Given the description of an element on the screen output the (x, y) to click on. 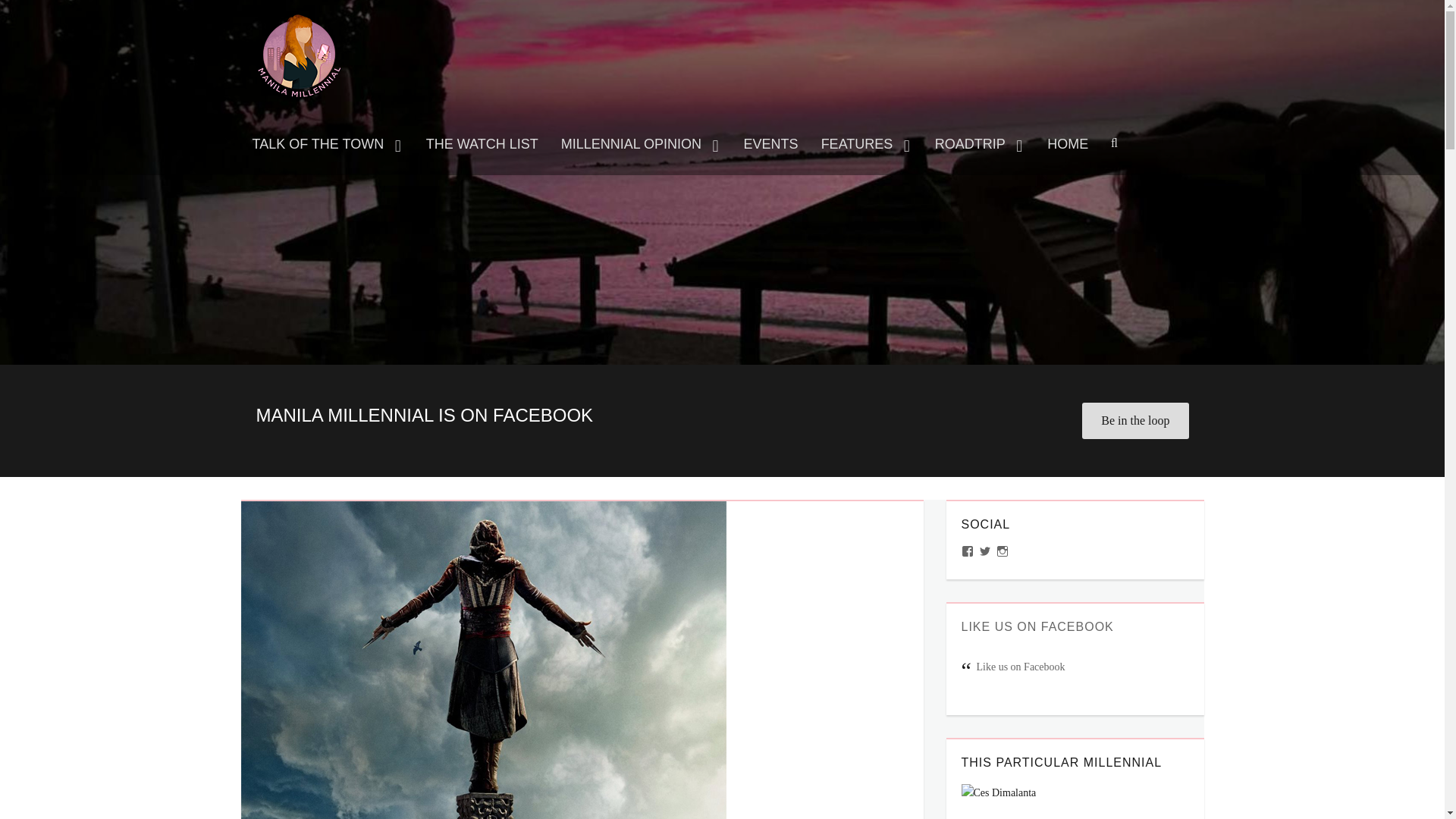
HOME (1067, 144)
ROADTRIP (979, 144)
MILLENNIAL OPINION (641, 144)
MANILA MILLENNIAL (343, 22)
Be in the loop (1134, 420)
FEATURES (866, 144)
EVENTS (770, 144)
TALK OF THE TOWN (327, 144)
THE WATCH LIST (482, 144)
